Given the description of an element on the screen output the (x, y) to click on. 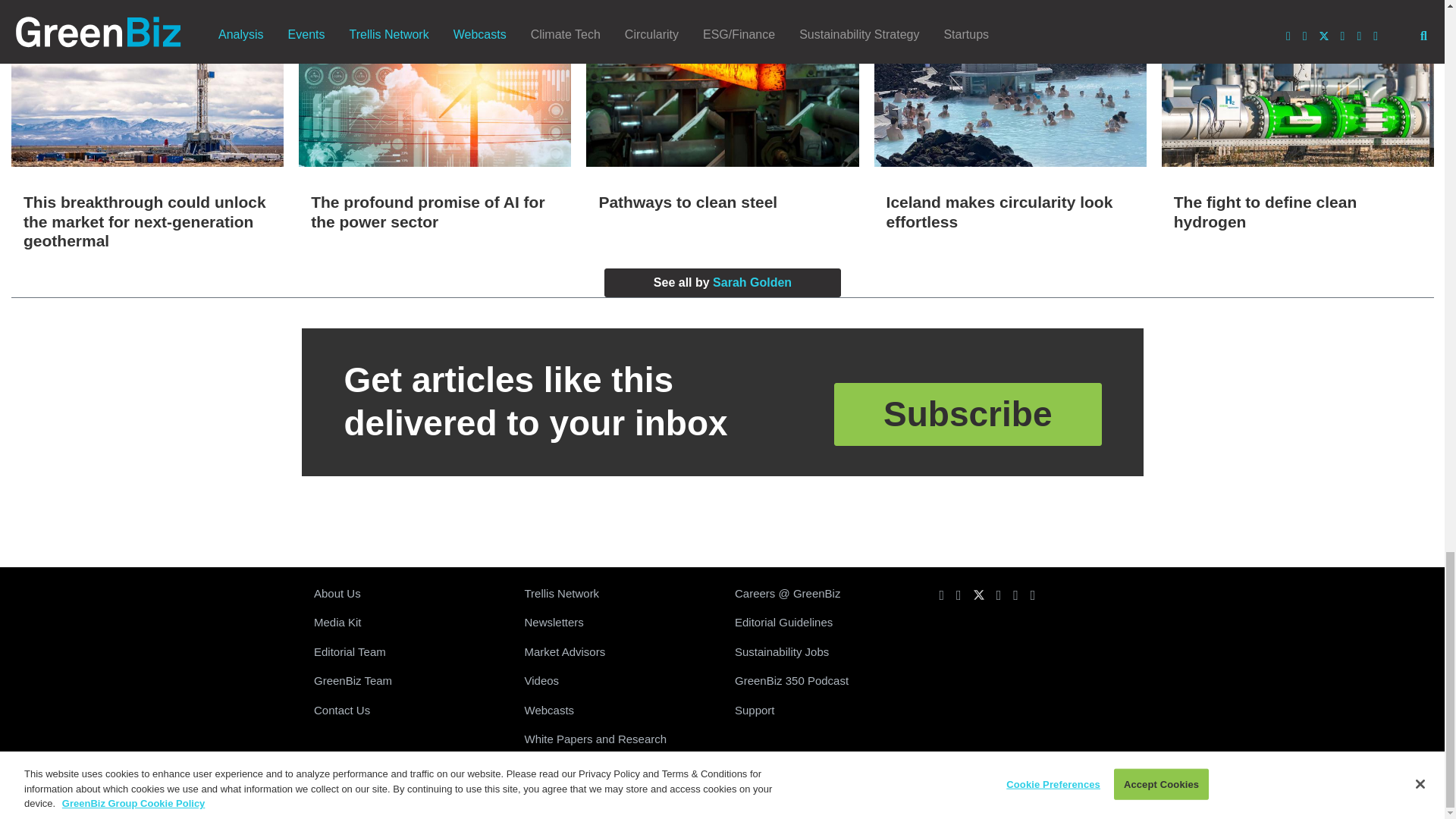
About GreenBiz Group (406, 594)
This is a footer link. (406, 681)
Information on GreenBiz Peer Network Offerings (617, 594)
